Given the description of an element on the screen output the (x, y) to click on. 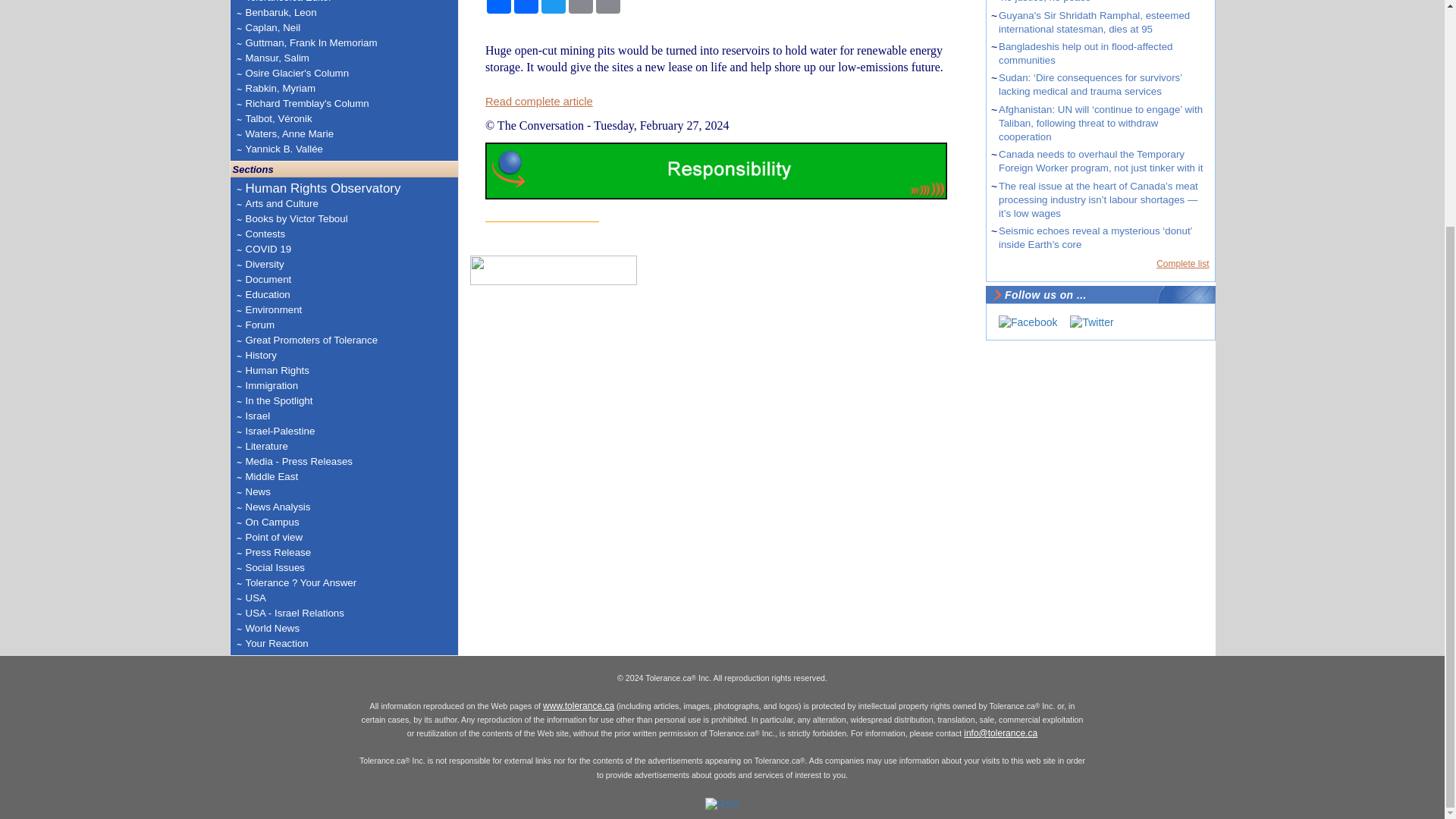
Books by Victor Teboul (323, 218)
Twitter (1091, 321)
Osire Glacier's Column (350, 73)
Human Rights Observatory (323, 188)
Articles and Essays by Victor Teboul, Tolerance.ca Editor (350, 2)
Waters, Anne Marie (350, 133)
Benbaruk, Leon (350, 12)
Mansur, Salim (350, 58)
Arts and Culture (323, 203)
Richard Tremblay's Column (350, 103)
